Given the description of an element on the screen output the (x, y) to click on. 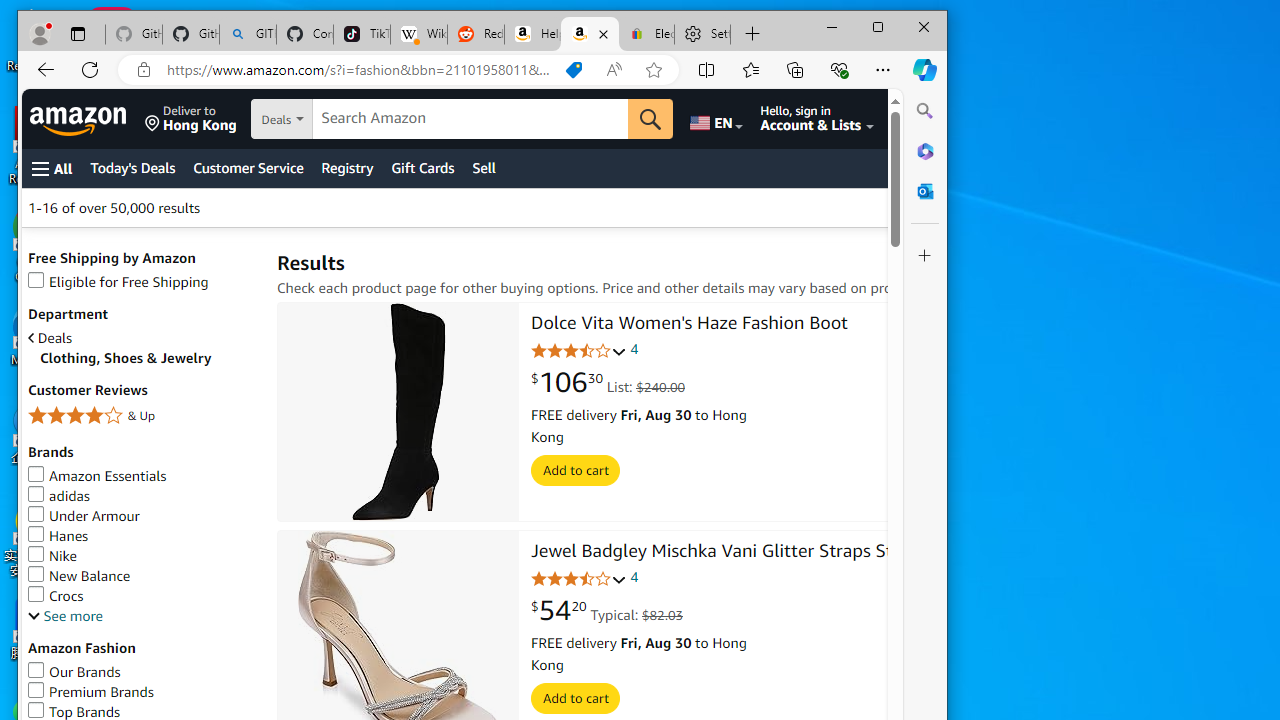
Amazon Essentials (97, 475)
Search Amazon (470, 119)
Add to cart (575, 699)
$54.20 Typical: $82.03 (607, 611)
Hanes (58, 535)
Returns & Orders (921, 119)
Customer Service (248, 168)
